Given the description of an element on the screen output the (x, y) to click on. 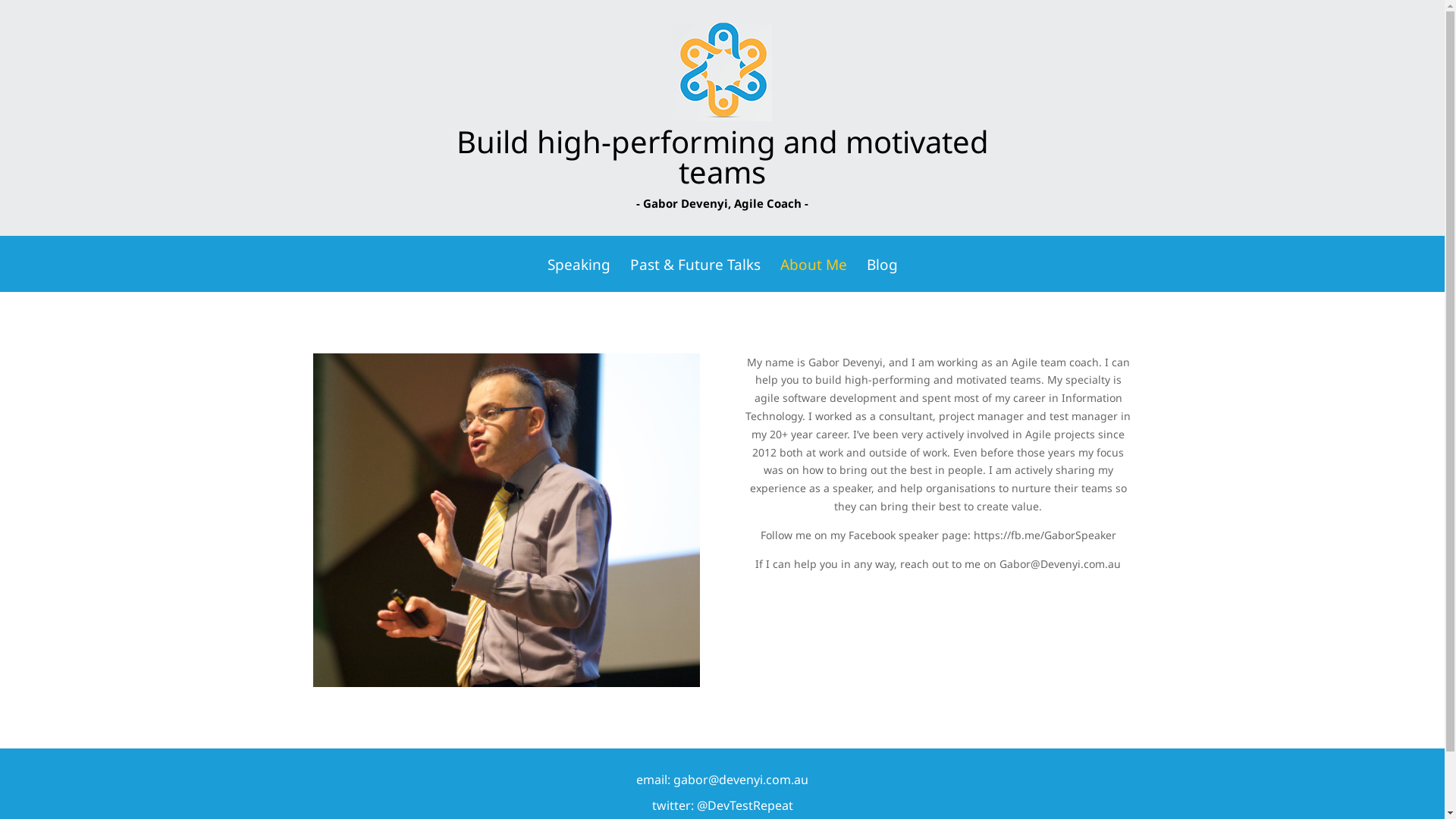
twitter: @DevTestRepeat Element type: text (722, 805)
email: gabor@devenyi.com.au Element type: text (722, 779)
Blog Element type: text (881, 275)
Gabor@Devenyi.com.au Element type: text (1059, 563)
https://fb.me/GaborSpeaker Element type: text (1044, 534)
Past & Future Talks Element type: text (694, 275)
About Me Element type: text (812, 275)
Speaking Element type: text (578, 275)
